Given the description of an element on the screen output the (x, y) to click on. 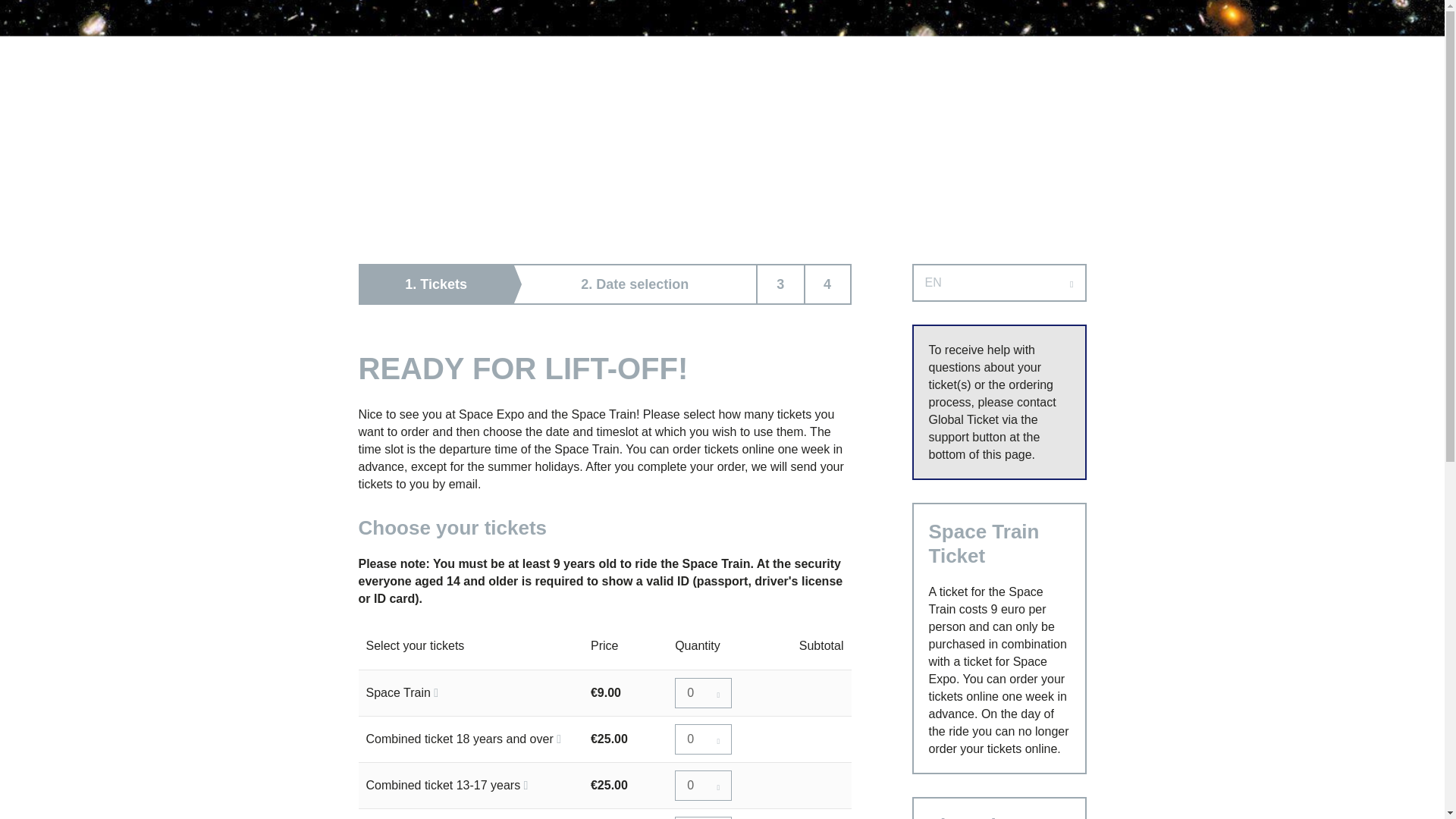
Combined ticket 18 years and over (702, 738)
4 (827, 284)
Combined ticket  13-17 years (702, 785)
Combined ticket  9-12 years (702, 818)
2. Date selection (635, 284)
1. Tickets (436, 284)
Space Train (702, 692)
3 (781, 284)
